Given the description of an element on the screen output the (x, y) to click on. 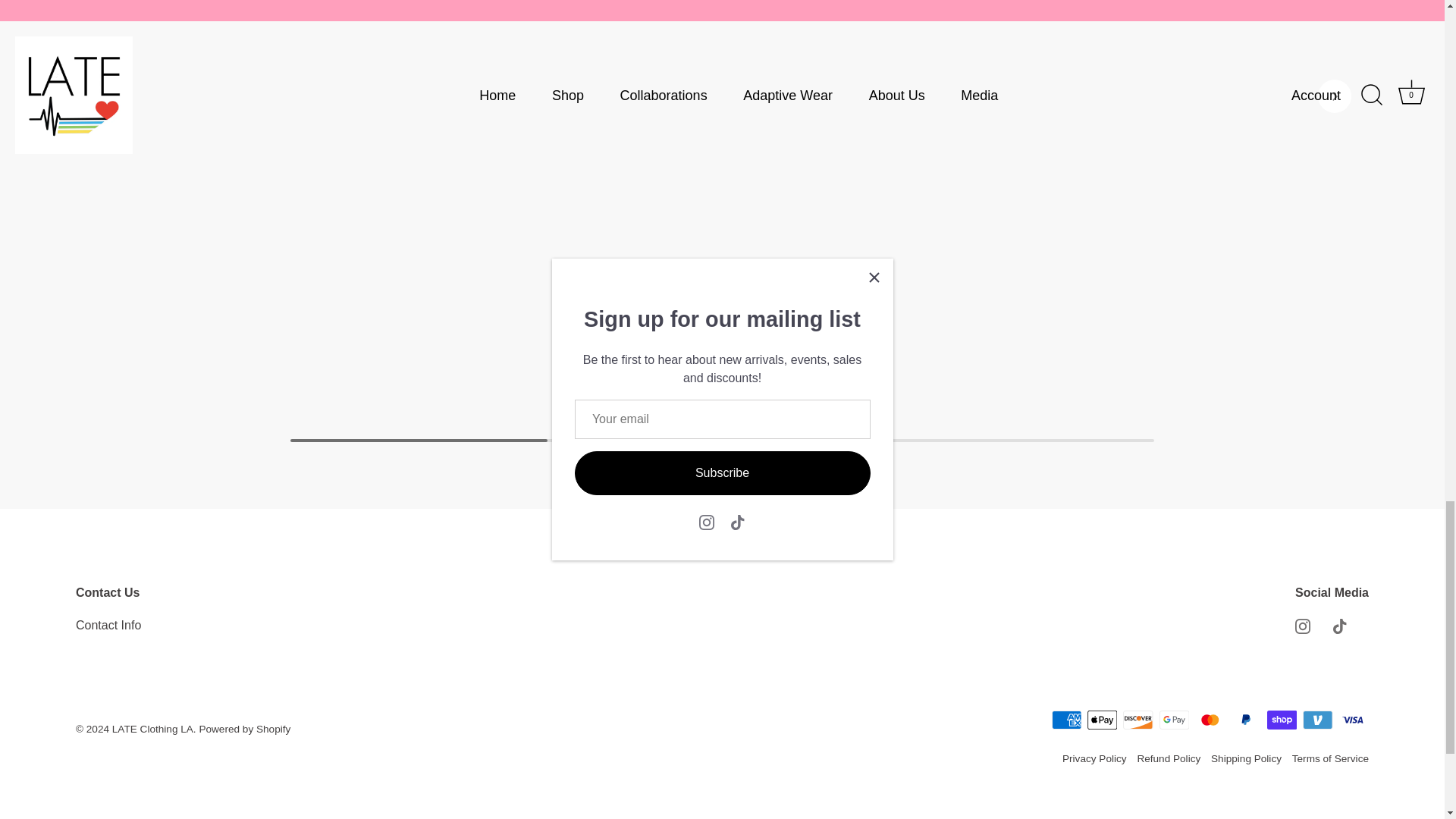
Discover (1137, 719)
Mastercard (1209, 719)
Google Pay (1173, 719)
Apple Pay (1101, 719)
Shop Pay (1281, 719)
Visa (1353, 719)
PayPal (1245, 719)
Venmo (1317, 719)
American Express (1066, 719)
Instagram (1302, 626)
